Given the description of an element on the screen output the (x, y) to click on. 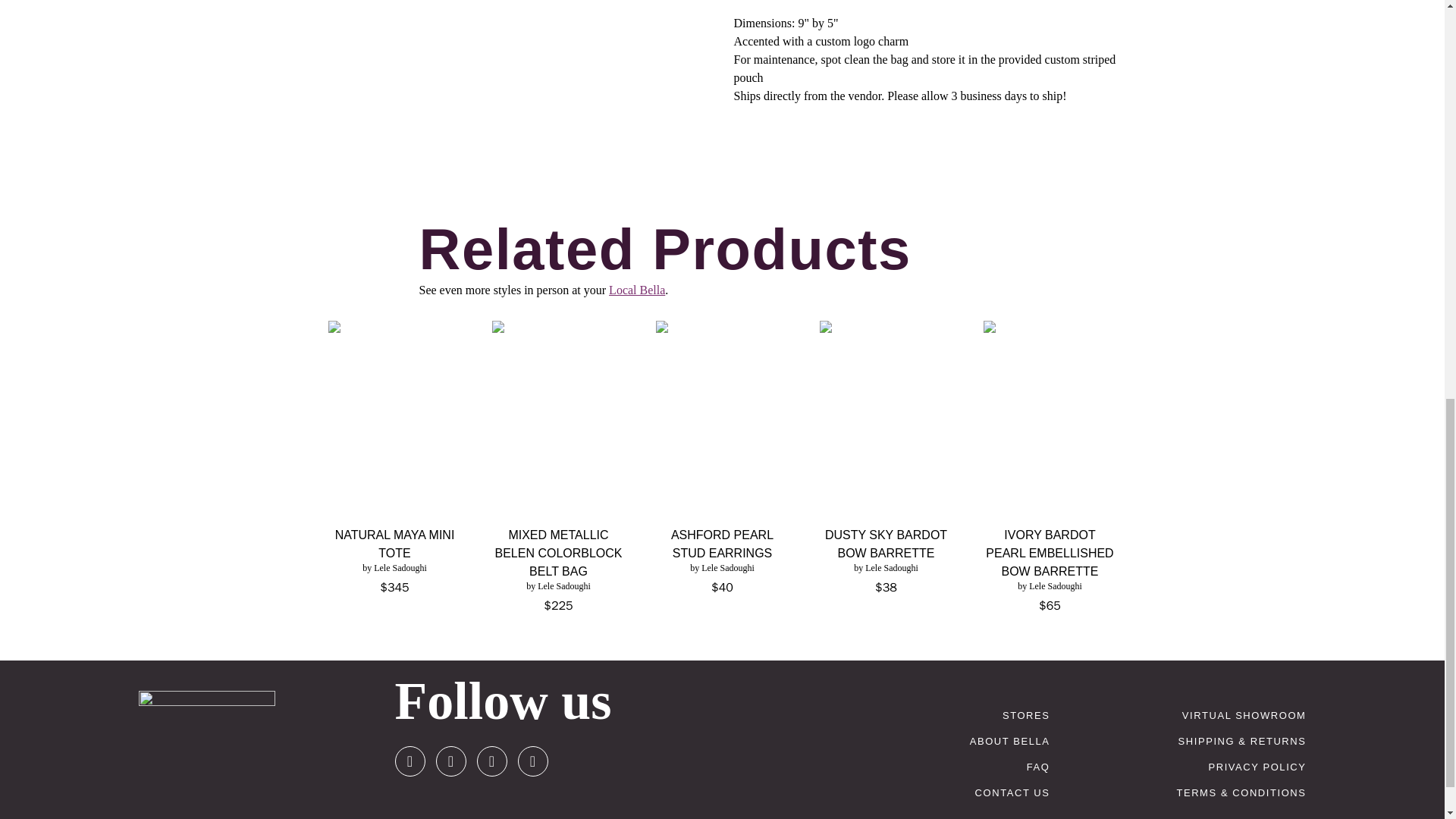
Bella Bridesmaids on Pinterest (491, 761)
Bella Bridesmaids on Instagram (409, 761)
Bella Bridesmaids on Tiktok (531, 761)
Bella Bridesmaids on Facebook (450, 761)
